Given the description of an element on the screen output the (x, y) to click on. 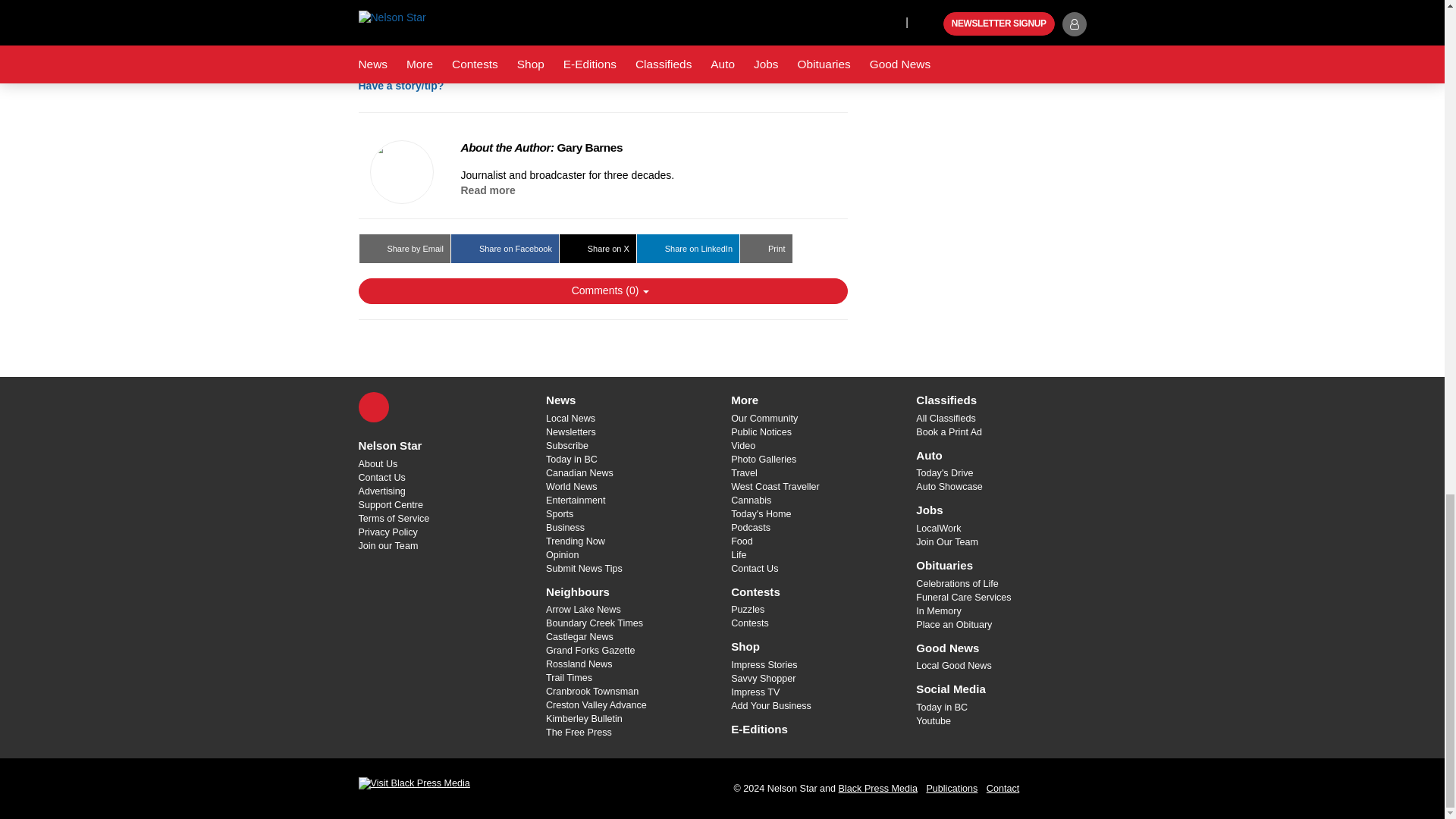
X (373, 407)
Show Comments (602, 290)
